Given the description of an element on the screen output the (x, y) to click on. 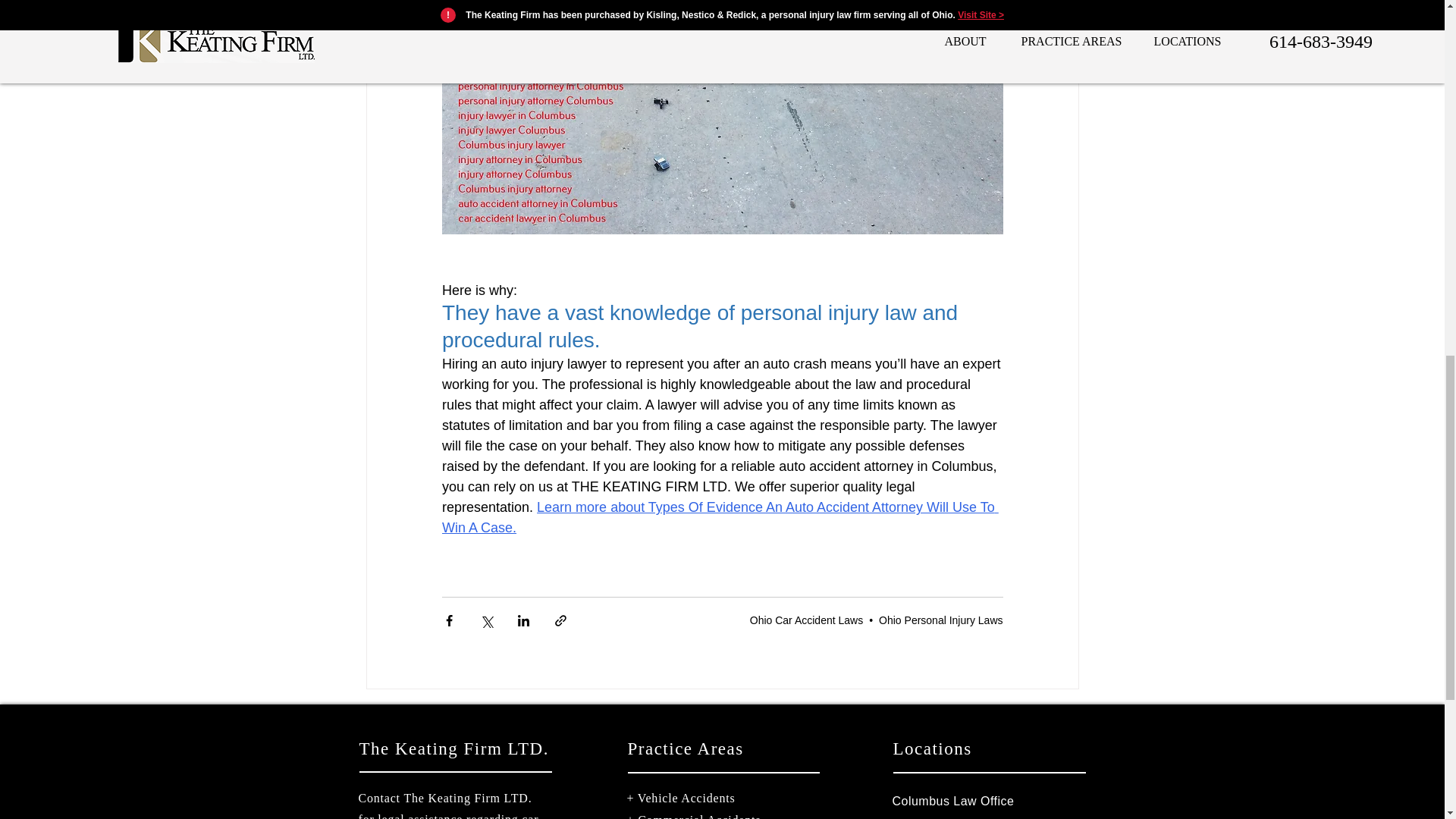
Vehicle Accidents (686, 797)
Ohio Personal Injury Laws (941, 620)
Ohio Car Accident Laws (806, 620)
Commercial Accidents (698, 816)
